Given the description of an element on the screen output the (x, y) to click on. 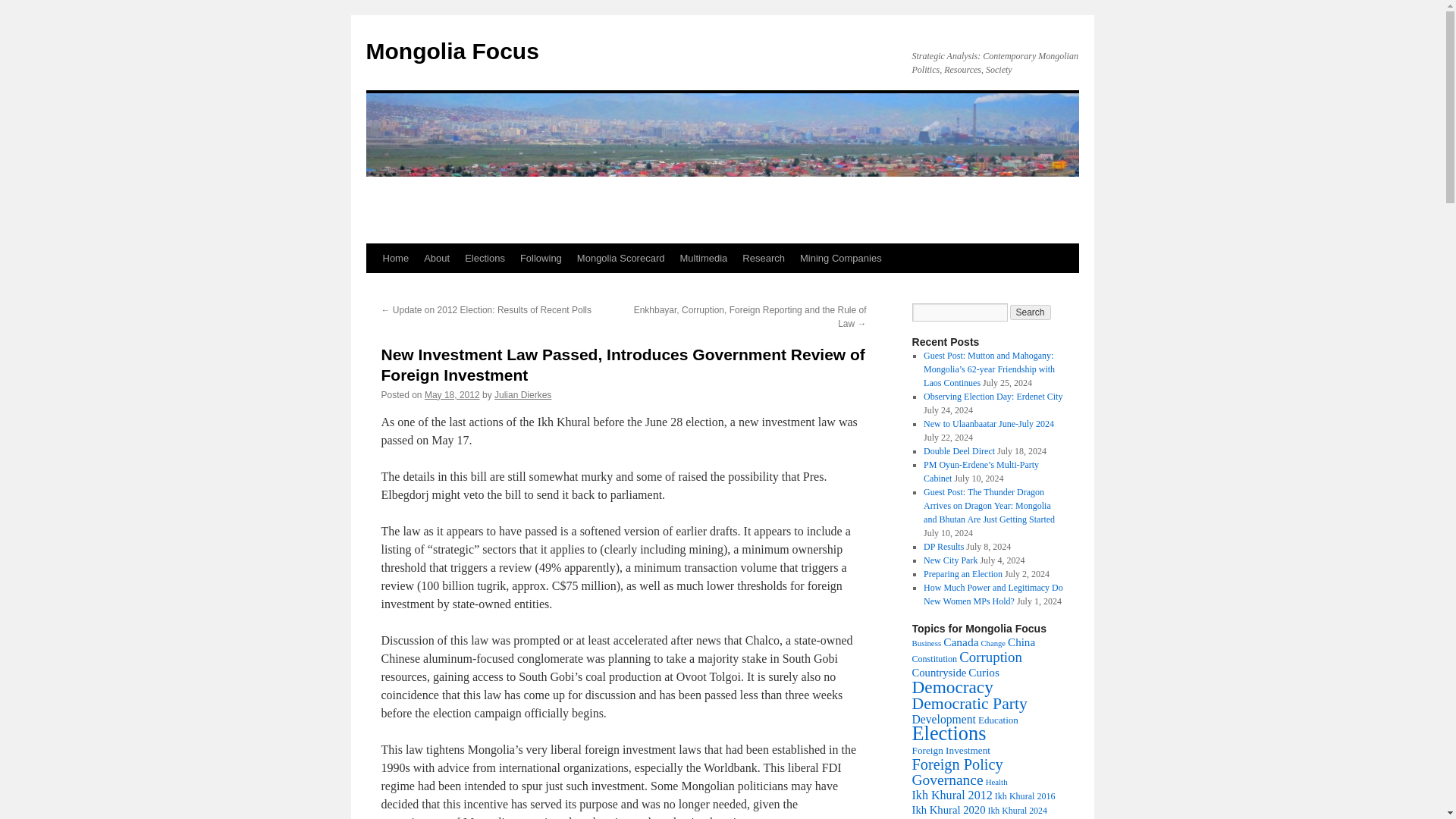
Research (763, 258)
Mongolia Focus (451, 50)
Mongolia Scorecard (620, 258)
May 18, 2012 (452, 394)
Mining Companies (840, 258)
Mongolia Focus (451, 50)
Multimedia (703, 258)
Search (1030, 312)
About (436, 258)
04:54 (452, 394)
View all posts by Julian Dierkes (523, 394)
Elections (484, 258)
Home (395, 258)
Following (540, 258)
Julian Dierkes (523, 394)
